Given the description of an element on the screen output the (x, y) to click on. 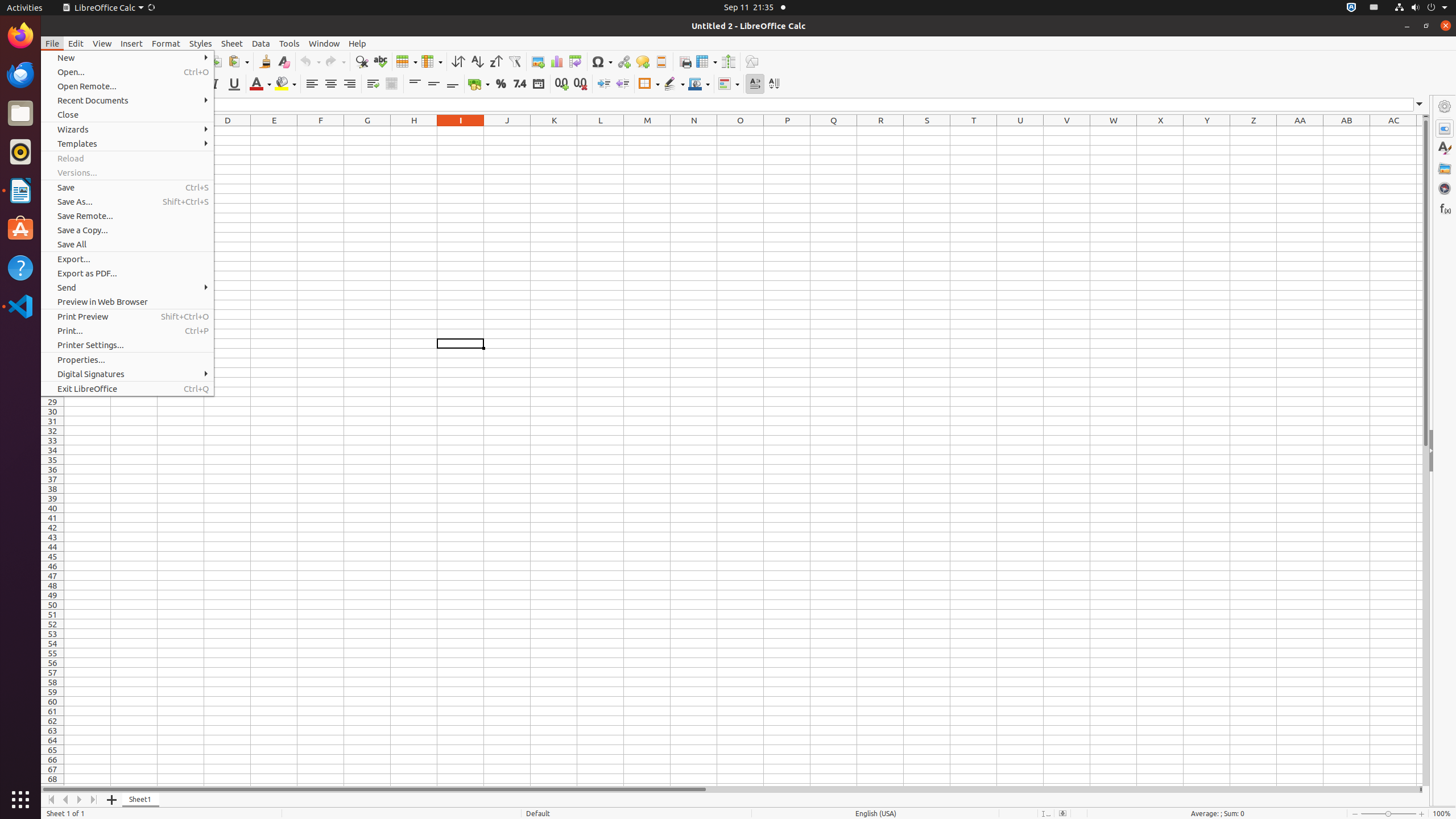
Undo Element type: push-button (309, 61)
Y1 Element type: table-cell (1206, 130)
Print Area Element type: push-button (684, 61)
Pivot Table Element type: push-button (574, 61)
Center Vertically Element type: push-button (433, 83)
